Given the description of an element on the screen output the (x, y) to click on. 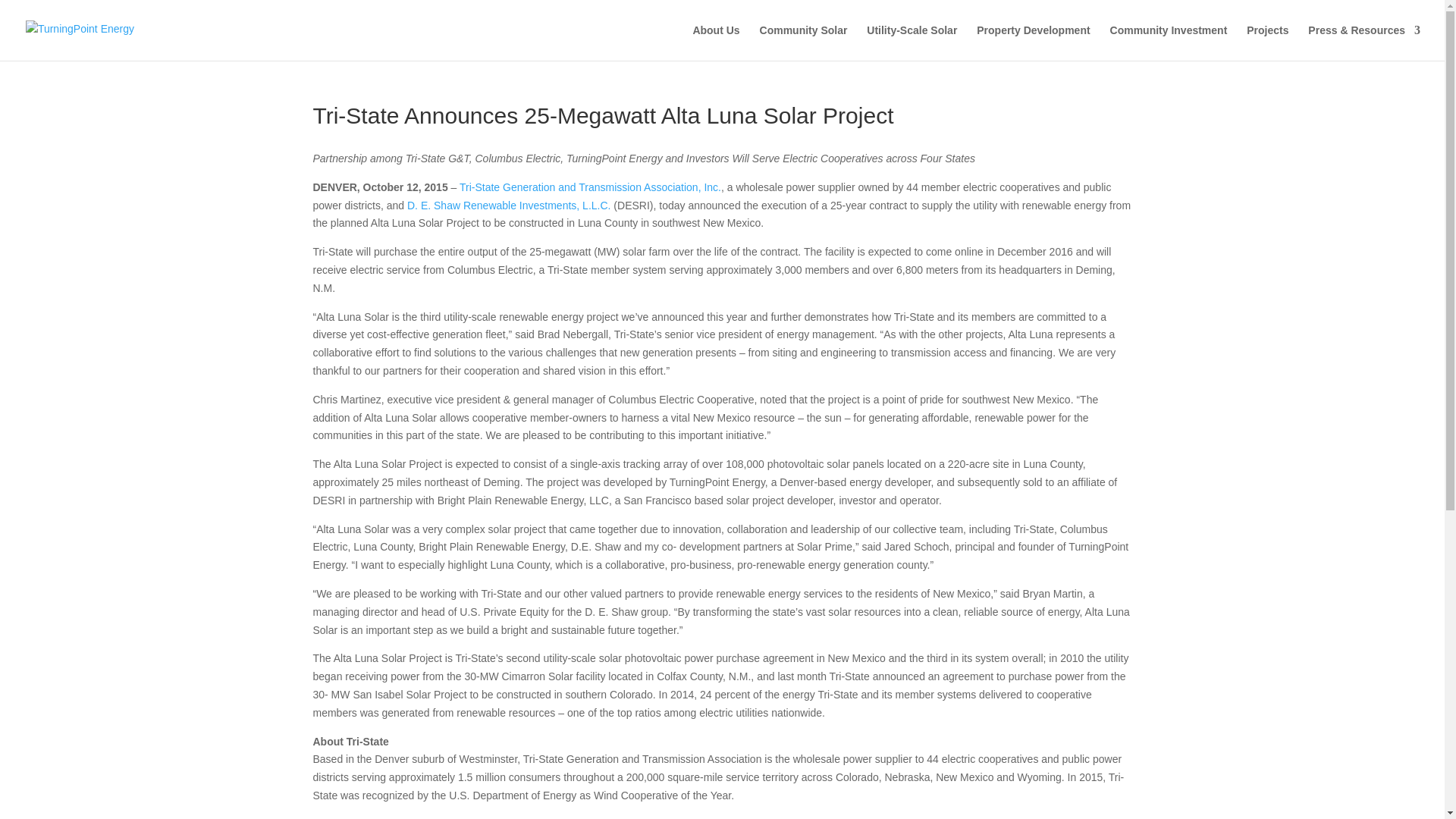
Tri-State Generation and Transmission Association, Inc. (590, 186)
Projects (1267, 42)
Community Solar (803, 42)
About Us (716, 42)
Utility-Scale Solar (911, 42)
Property Development (1032, 42)
D. E. Shaw Renewable Investments, L.L.C. (508, 205)
Community Investment (1168, 42)
